Given the description of an element on the screen output the (x, y) to click on. 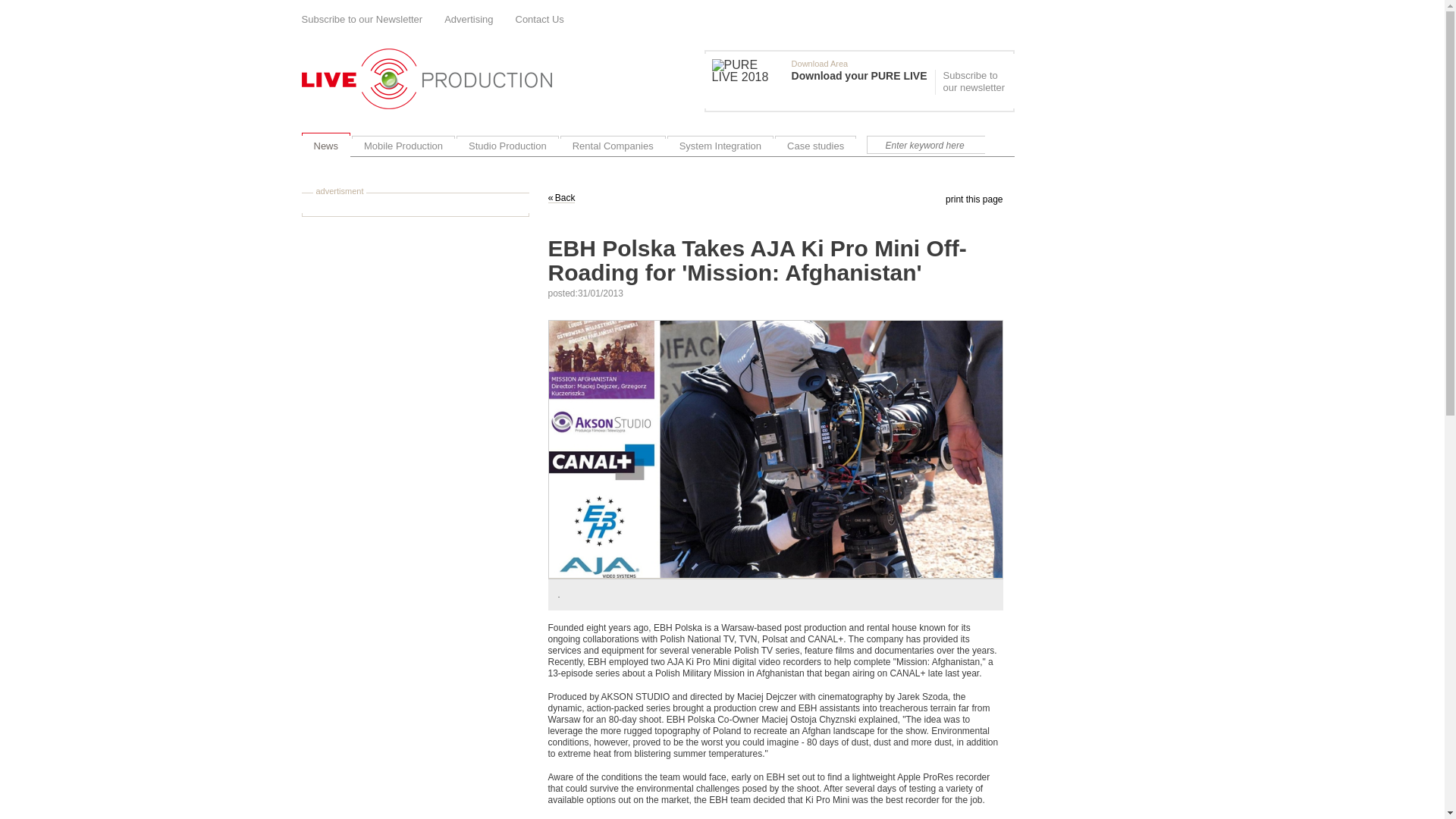
Advertising (468, 19)
Publication (822, 80)
PURE LIVE 2018 (747, 70)
Go (998, 144)
Subscribe to our Newsletter (362, 19)
RSS (1008, 17)
Contact Us (539, 19)
Subscribe to our newsletter (972, 82)
